Given the description of an element on the screen output the (x, y) to click on. 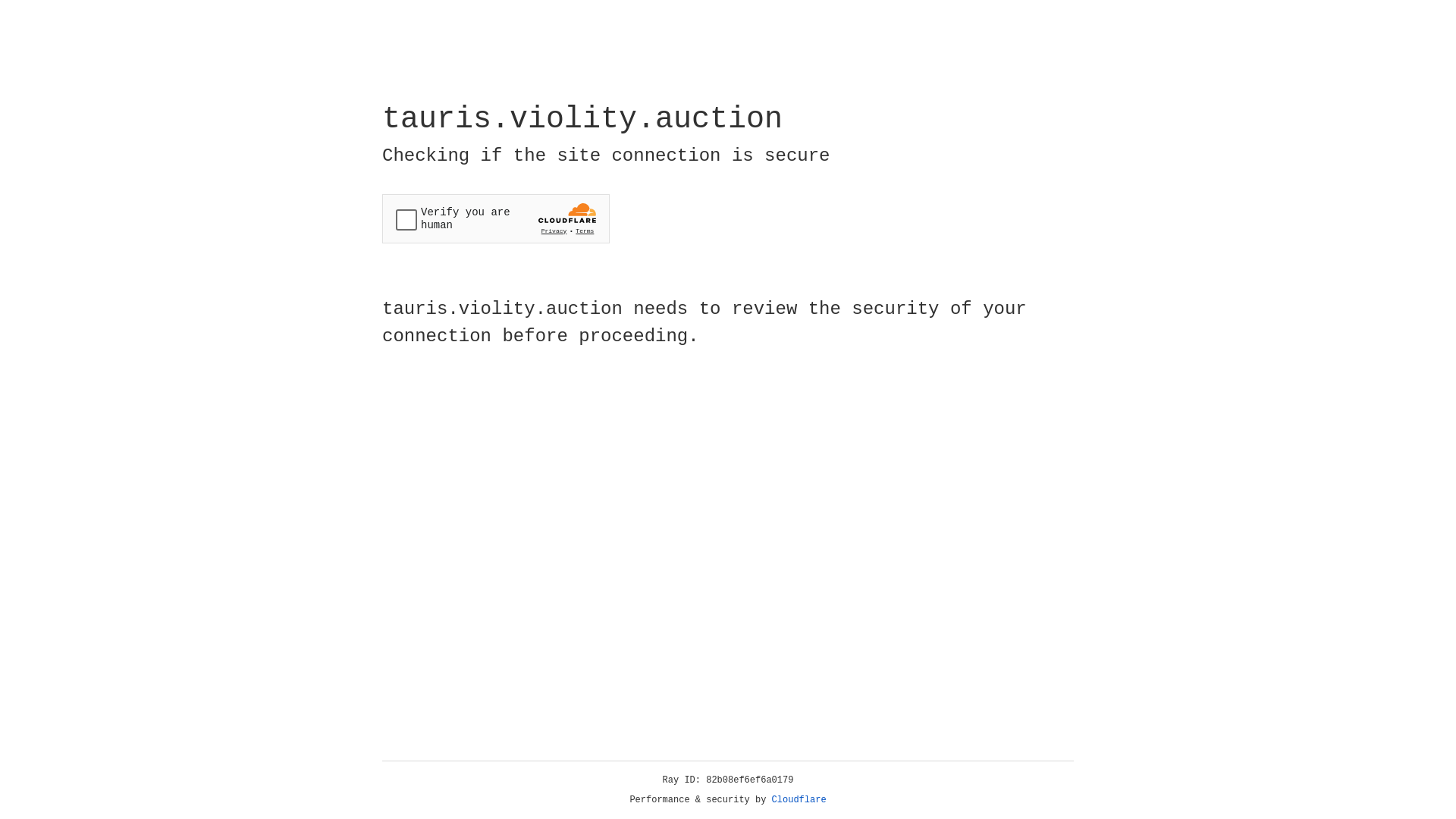
Cloudflare Element type: text (798, 799)
Widget containing a Cloudflare security challenge Element type: hover (495, 218)
